Given the description of an element on the screen output the (x, y) to click on. 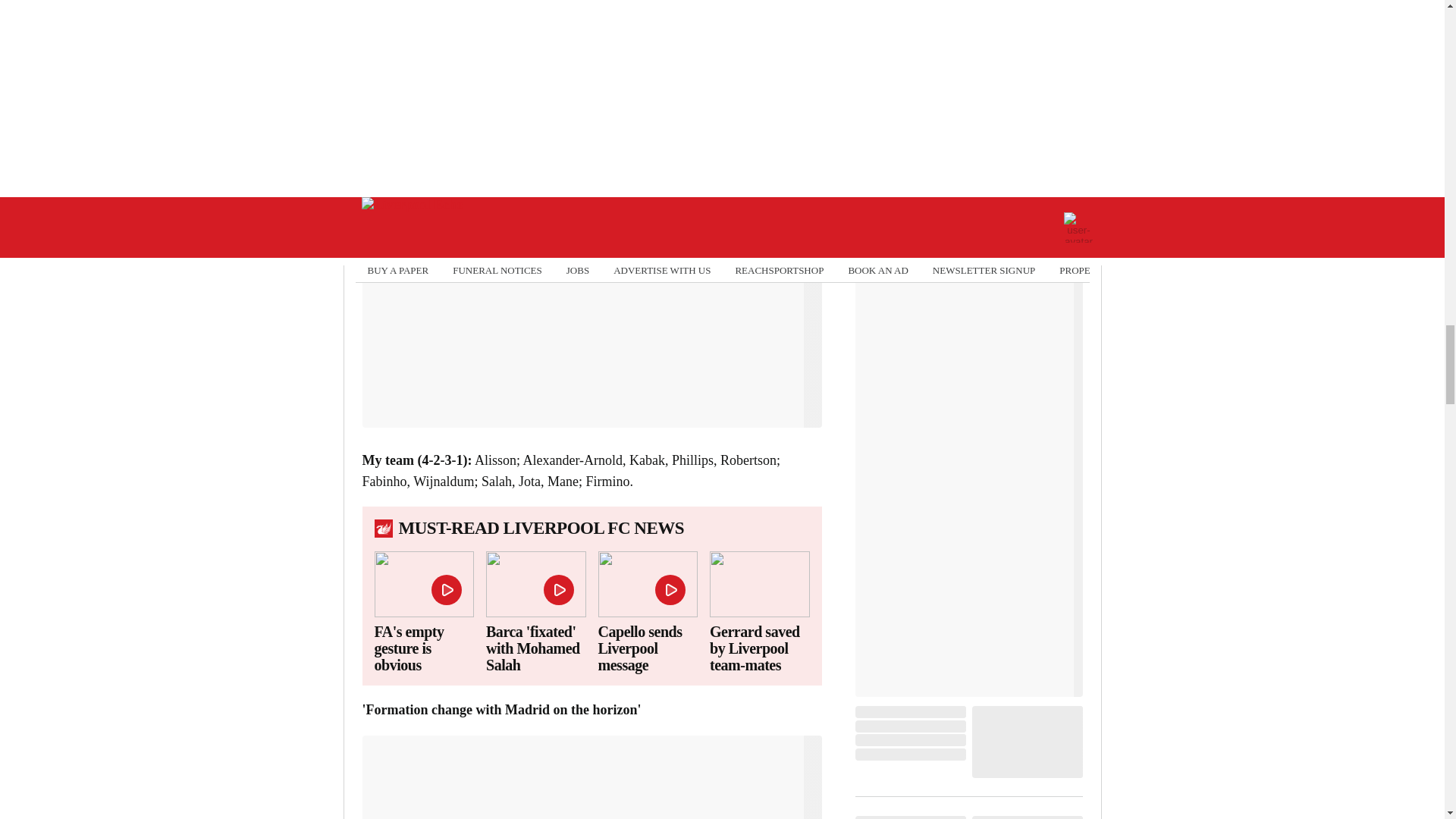
FA's empty gesture is obvious (424, 648)
Gerrard saved by Liverpool team-mates (759, 648)
Diogo Jota (460, 171)
Barca 'fixated' with Mohamed Salah (536, 648)
Capello sends Liverpool message (646, 648)
